Given the description of an element on the screen output the (x, y) to click on. 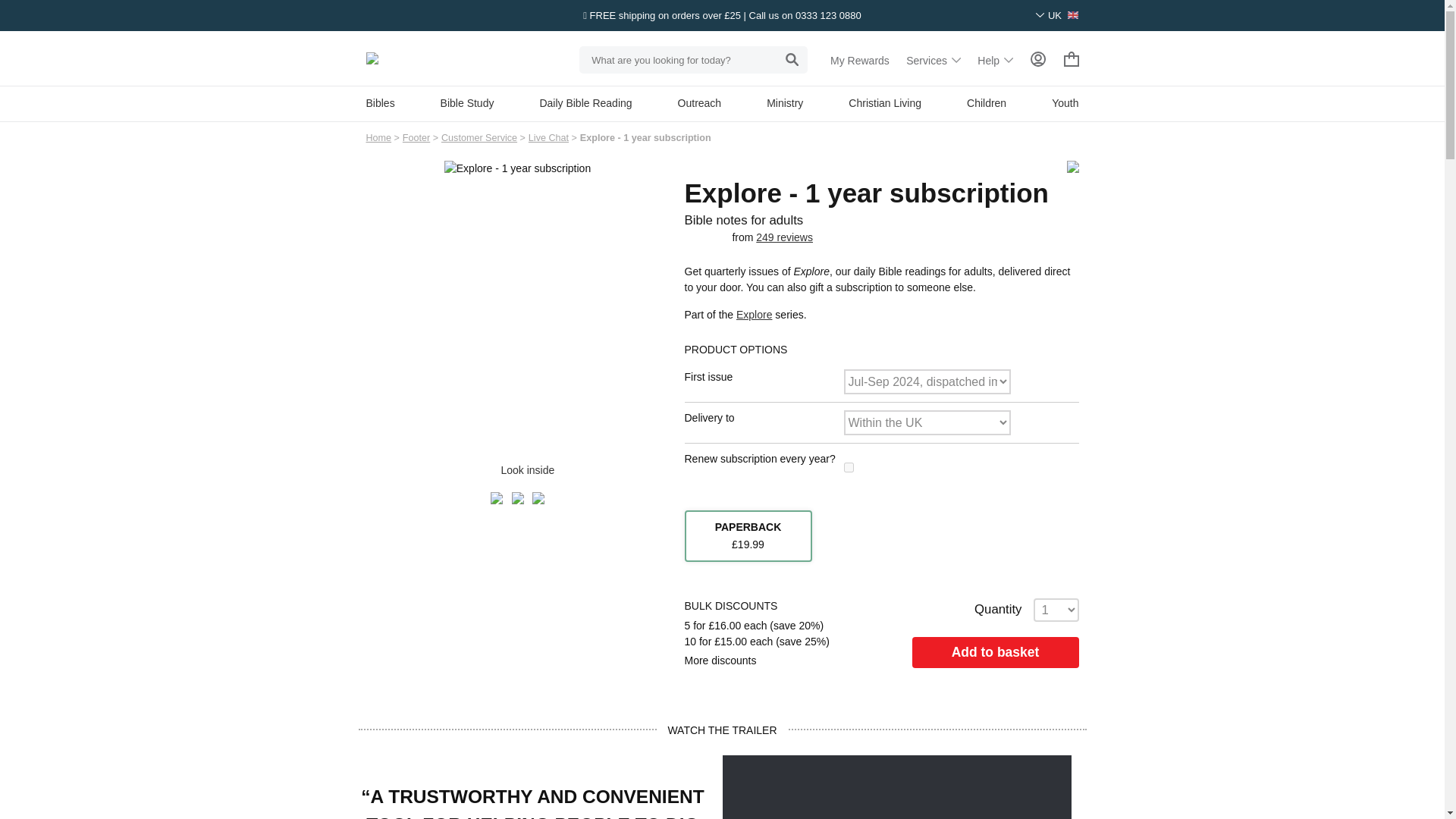
Go to Home Page (378, 137)
UK (1056, 14)
My Rewards (859, 60)
Sign in (1037, 58)
Bibles (379, 102)
Services (932, 60)
1 (848, 467)
Help (994, 60)
